Given the description of an element on the screen output the (x, y) to click on. 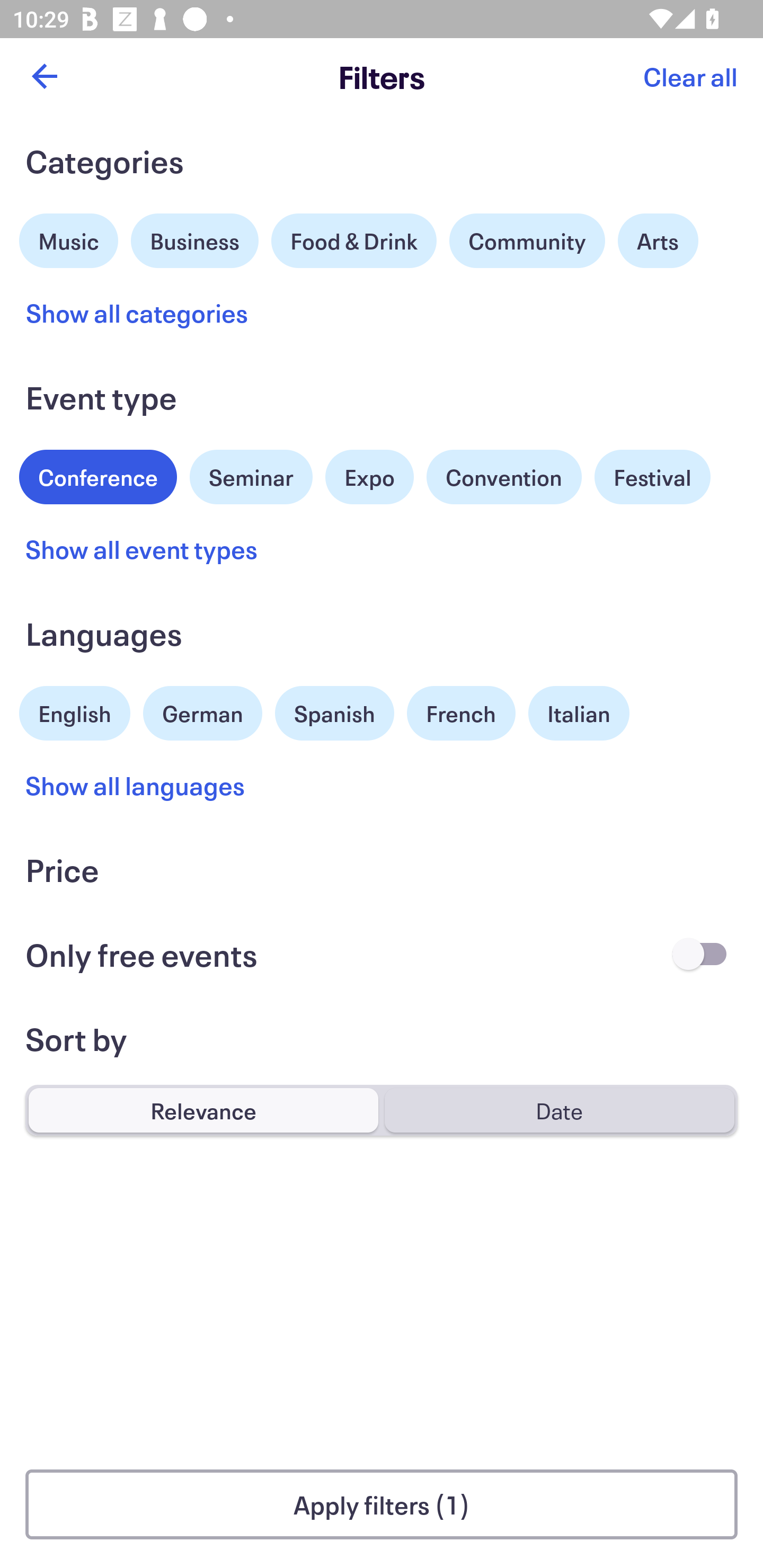
Back button (44, 75)
Clear all (690, 75)
Music (68, 238)
Business (194, 238)
Food & Drink (353, 240)
Community (527, 240)
Arts (658, 240)
Show all categories (136, 312)
Conference (98, 475)
Seminar (250, 477)
Expo (369, 477)
Convention (503, 477)
Festival (652, 477)
Show all event types (141, 548)
English (74, 710)
German (202, 710)
Spanish (334, 713)
French (460, 713)
Italian (578, 713)
Show all languages (135, 784)
Relevance (203, 1109)
Date (559, 1109)
Apply filters (1) (381, 1504)
